Given the description of an element on the screen output the (x, y) to click on. 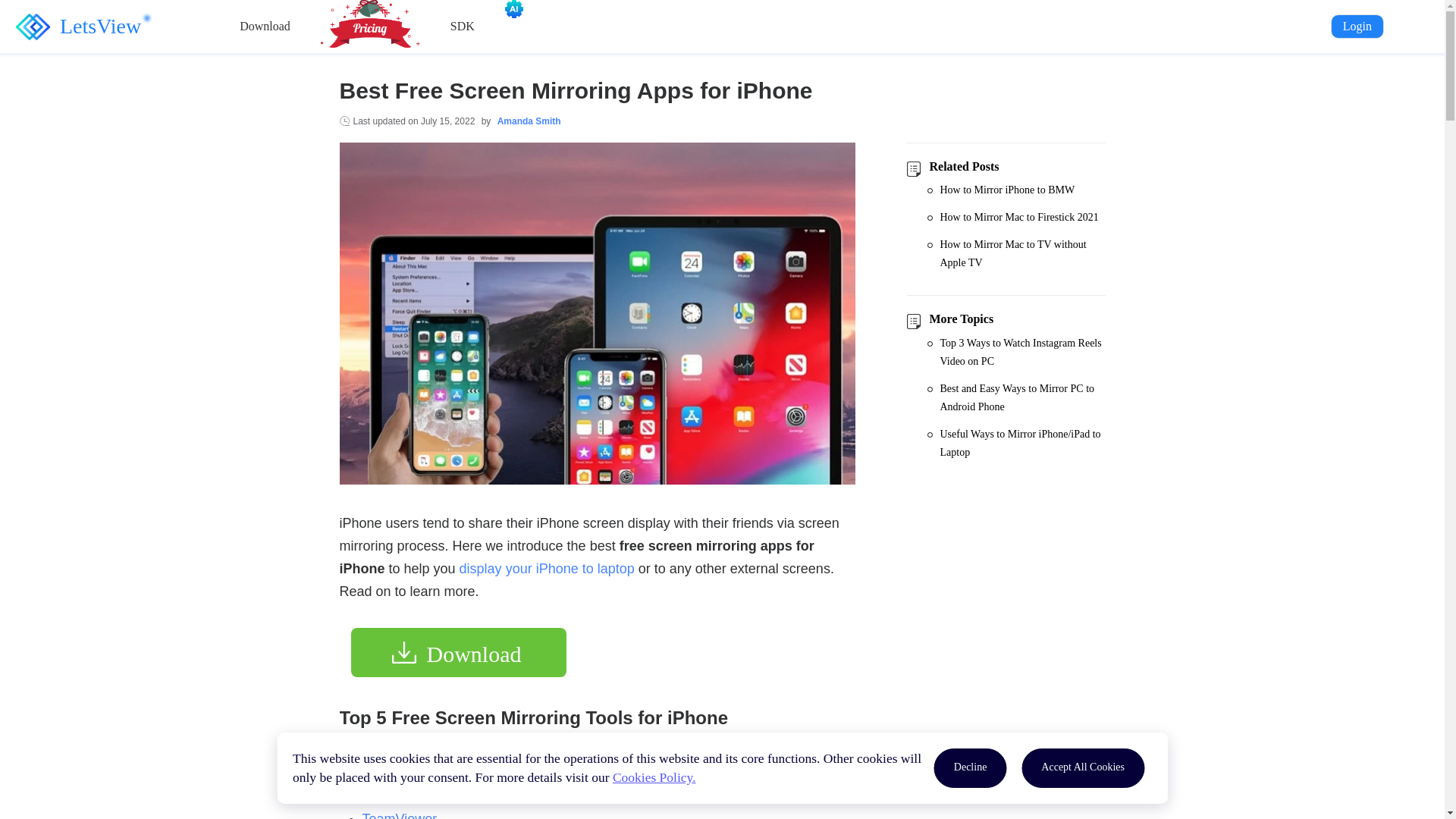
letsview (70, 26)
Accept All Cookies (1083, 767)
SDK (461, 25)
Download (264, 25)
Top 3 Ways to Watch Instagram Reels Video on PC (1022, 352)
ApowerMirror (403, 758)
Amanda Smith (528, 121)
Best and Easy Ways to Mirror PC to Android Phone (1022, 398)
Cookies Policy. (653, 776)
Screen Mirroring App (426, 788)
